Given the description of an element on the screen output the (x, y) to click on. 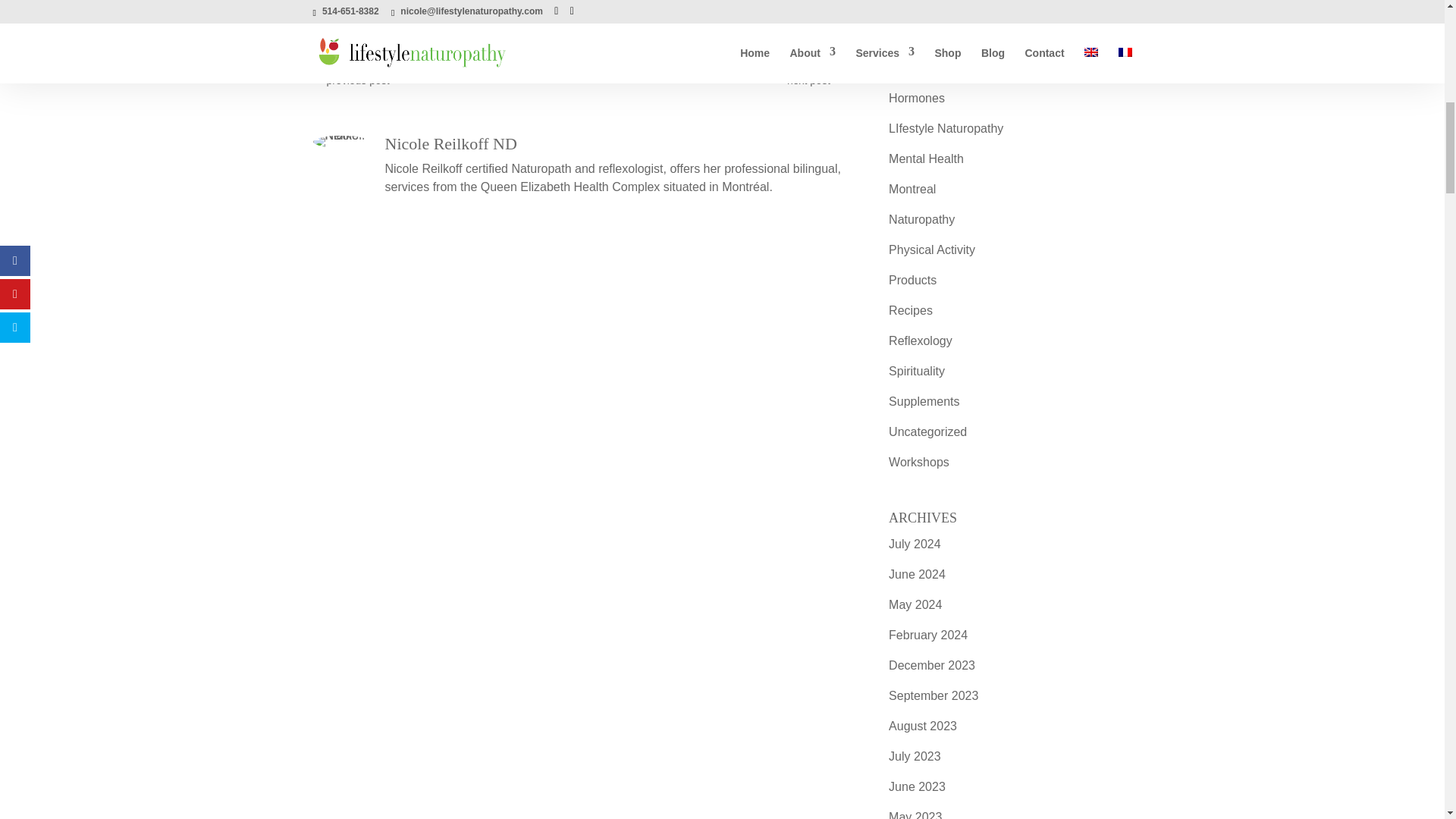
Hormones (916, 97)
Health (905, 6)
Hormone Testing (933, 67)
Health Tests (921, 37)
